Given the description of an element on the screen output the (x, y) to click on. 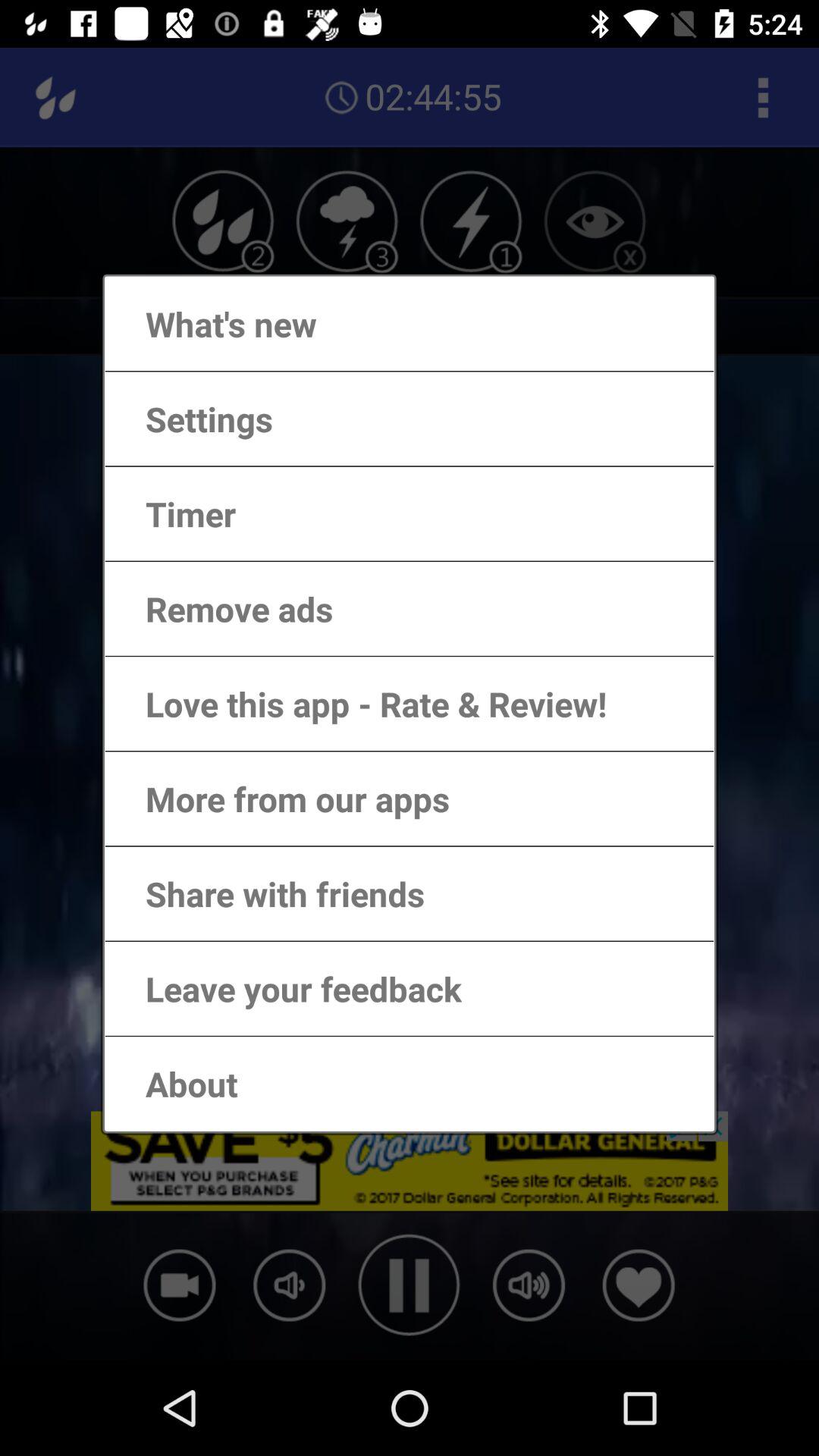
swipe until the love this app (360, 703)
